Given the description of an element on the screen output the (x, y) to click on. 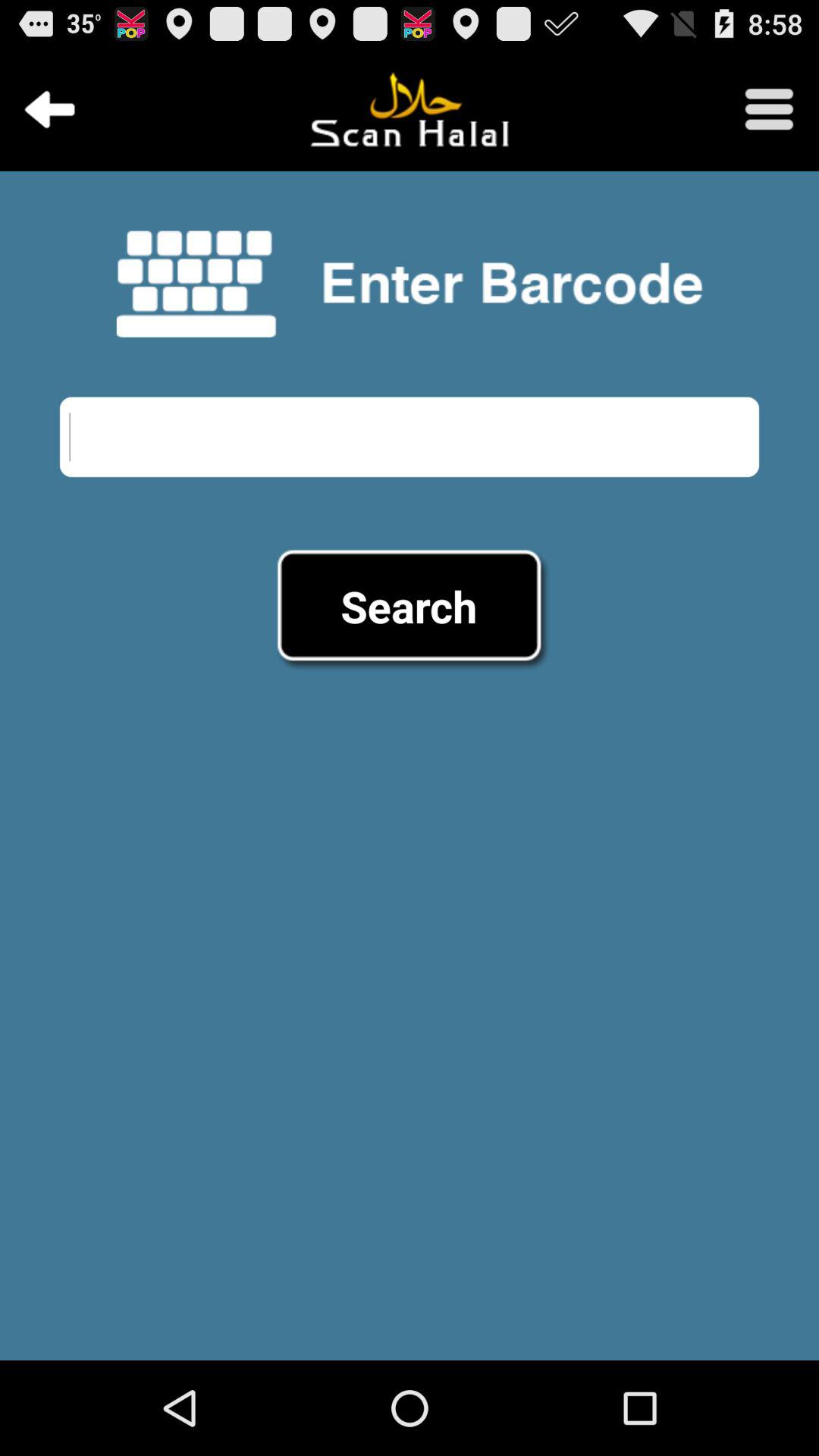
choose the item at the center (408, 605)
